Given the description of an element on the screen output the (x, y) to click on. 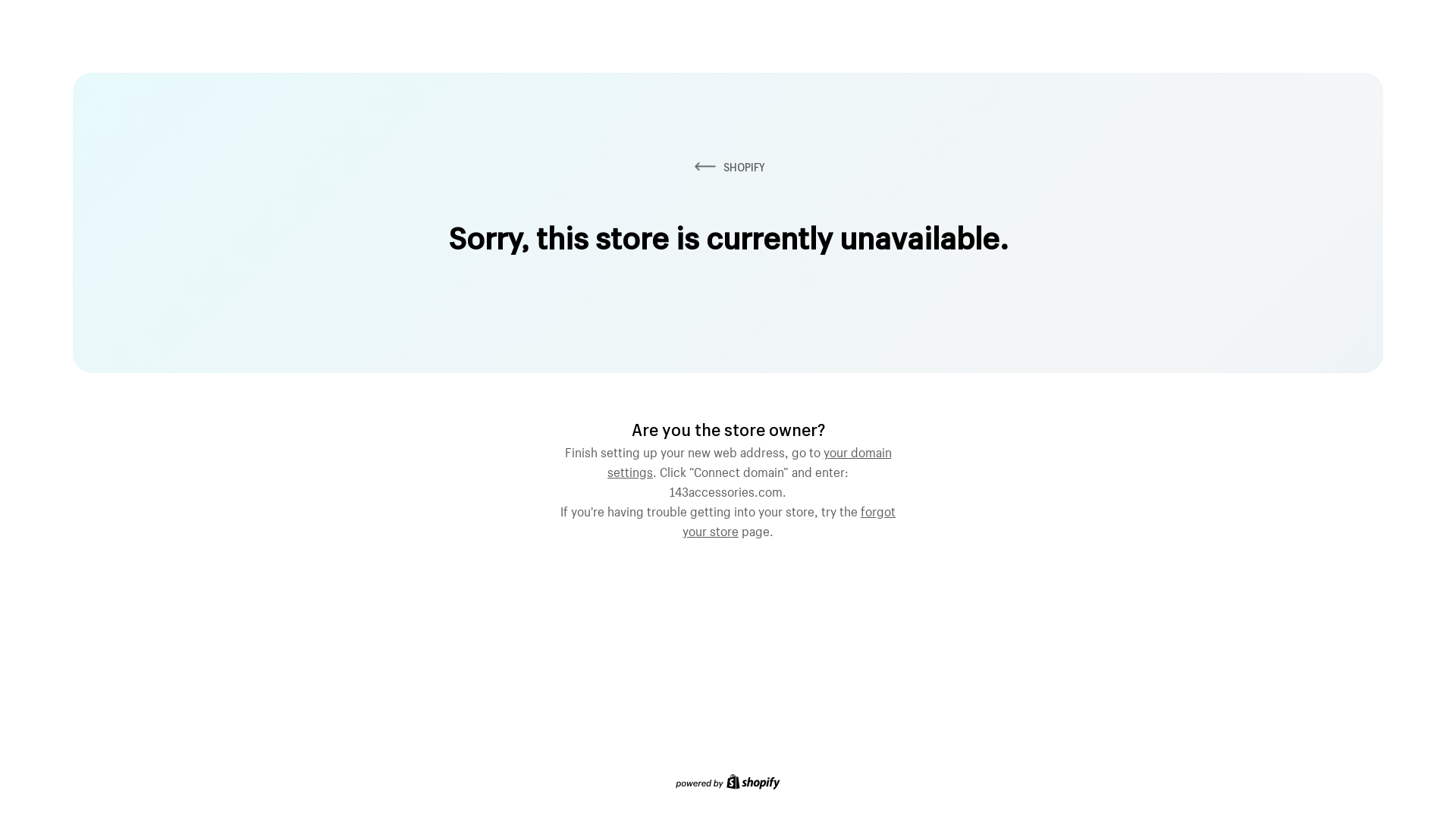
SHOPIFY Element type: text (727, 167)
your domain settings Element type: text (749, 460)
forgot your store Element type: text (788, 519)
